Given the description of an element on the screen output the (x, y) to click on. 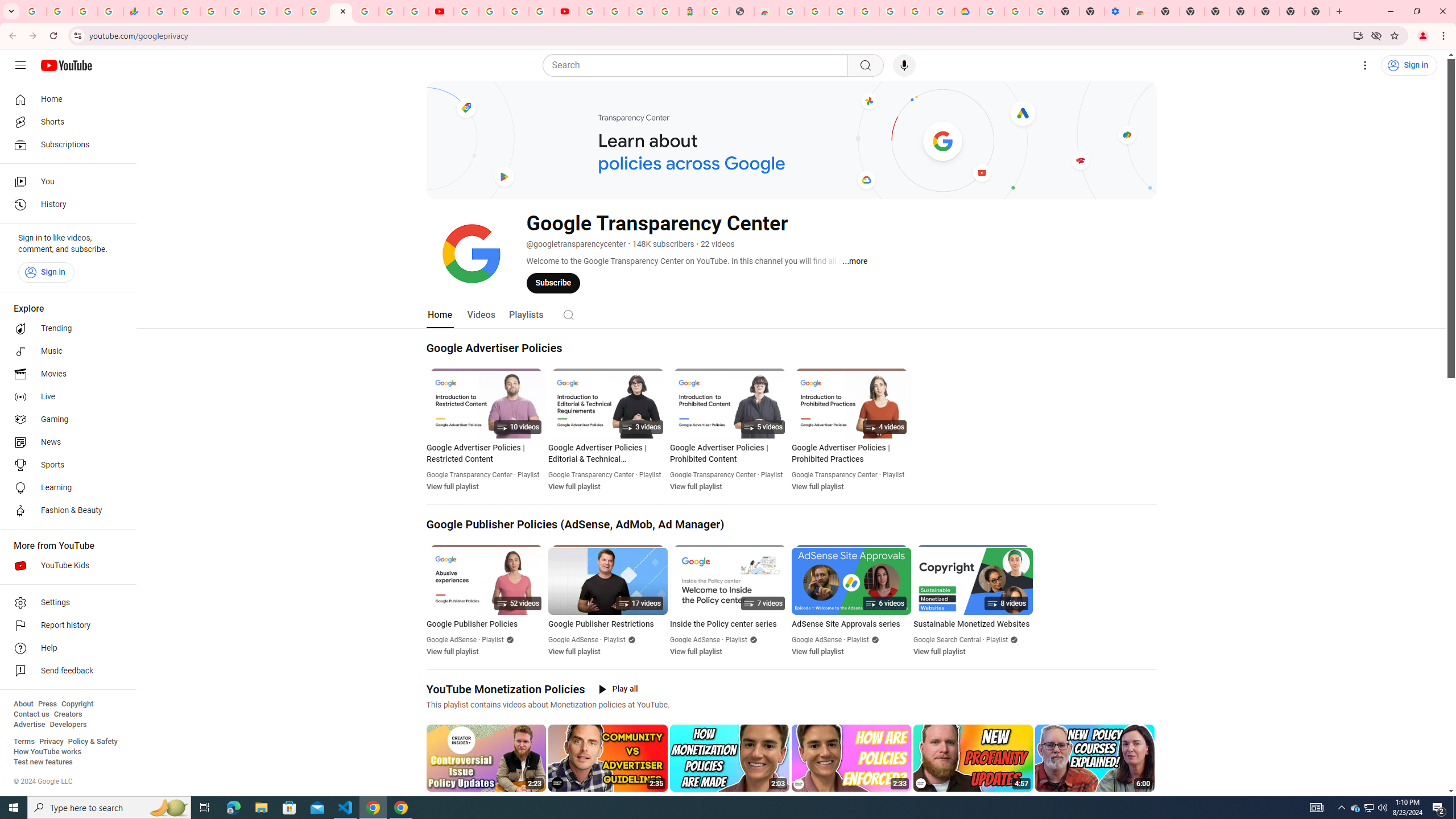
How YouTube works (47, 751)
New Tab (1317, 11)
Home (440, 314)
Settings - Accessibility (1116, 11)
Press (46, 703)
Chrome Web Store - Household (766, 11)
Contact us (31, 714)
Playlist (997, 639)
Playlists (525, 314)
Google Account Help (1016, 11)
